Given the description of an element on the screen output the (x, y) to click on. 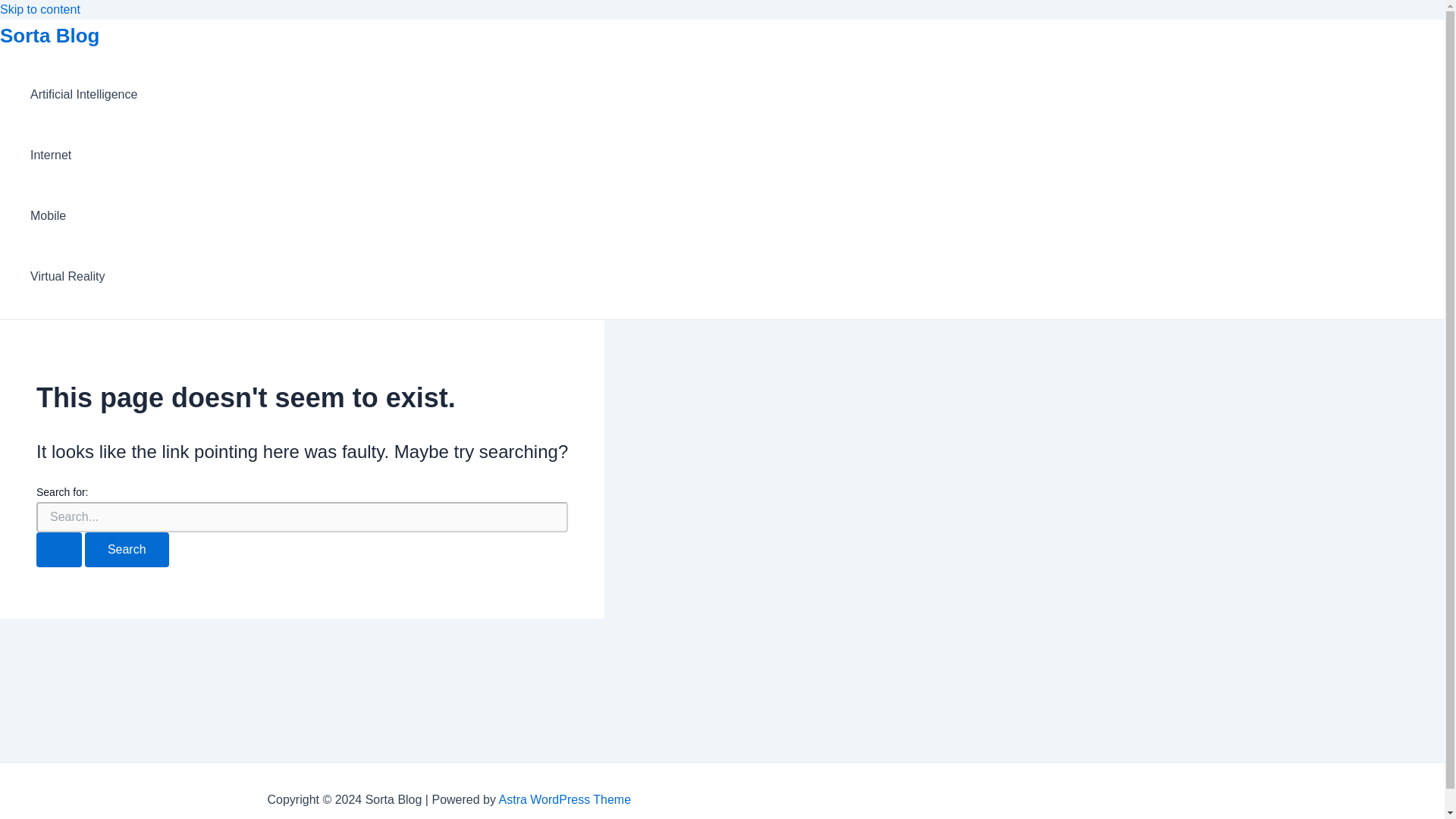
Search (126, 549)
Skip to content (40, 9)
Sorta Blog (49, 35)
Skip to content (40, 9)
Internet (83, 155)
Virtual Reality (83, 276)
Artificial Intelligence (83, 94)
Search (126, 549)
Astra WordPress Theme (565, 799)
Search (126, 549)
